Given the description of an element on the screen output the (x, y) to click on. 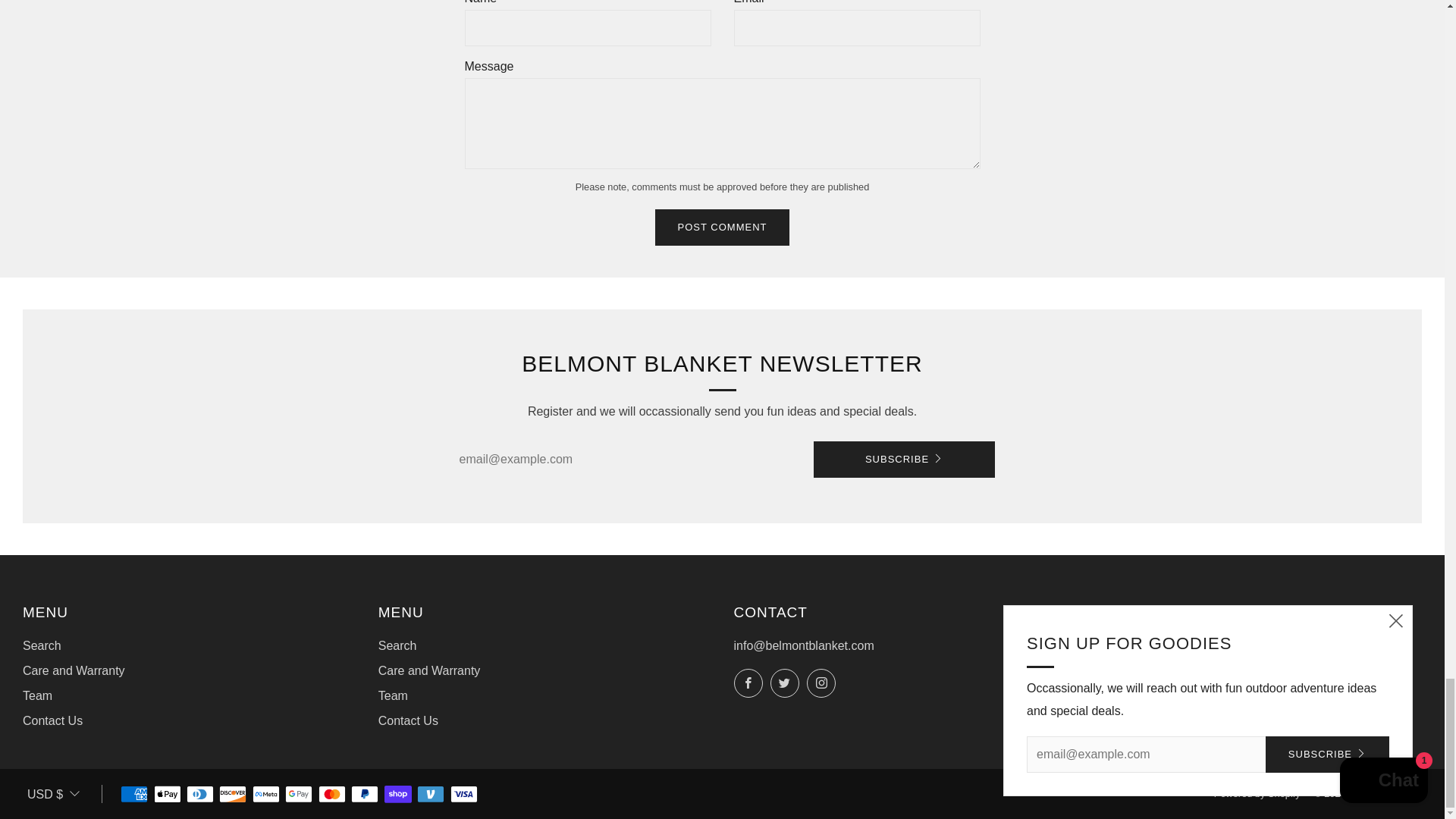
Post comment (722, 227)
